Given the description of an element on the screen output the (x, y) to click on. 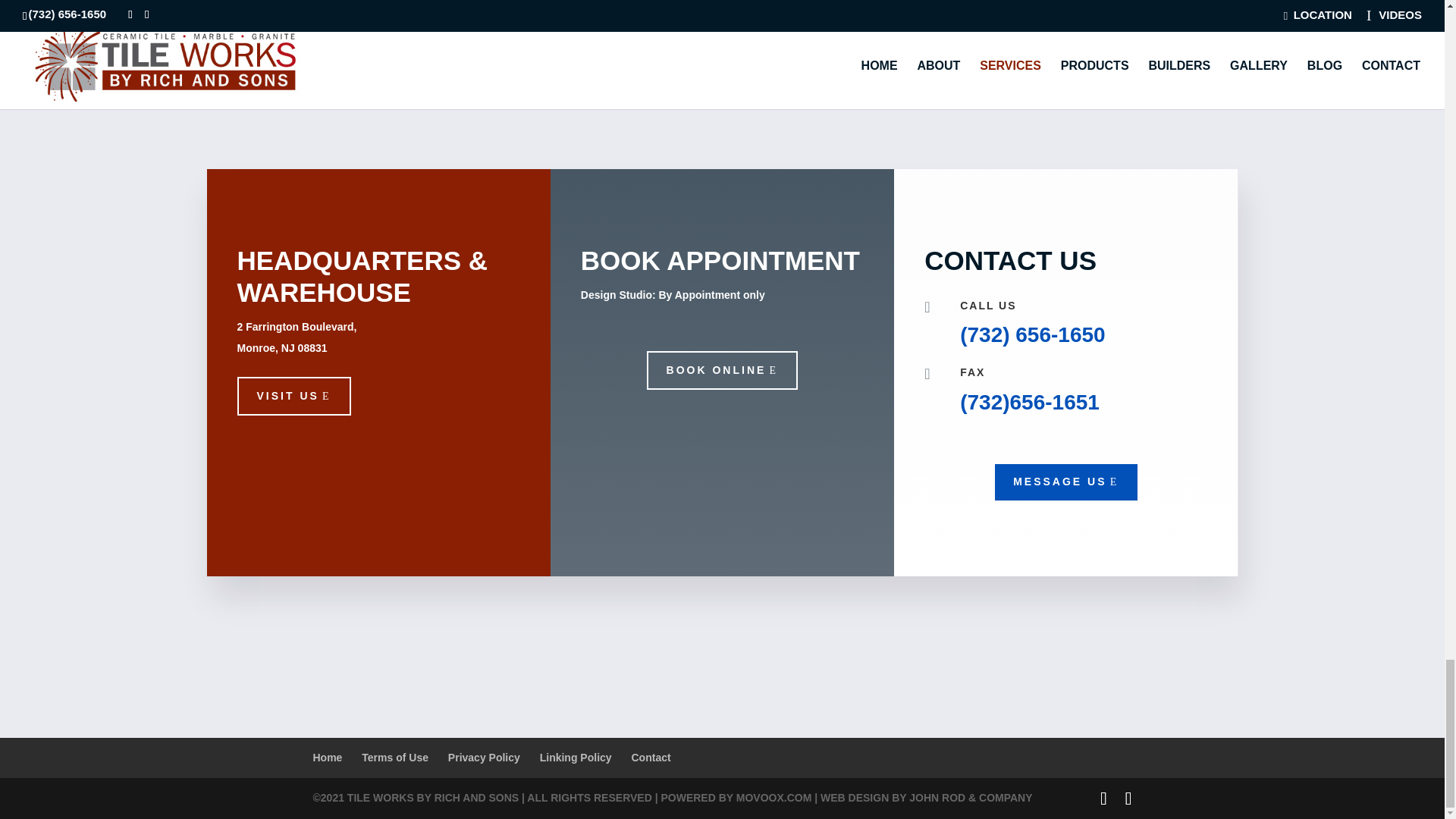
Contact (649, 757)
BOOK ONLINE (721, 370)
Home (327, 757)
VISIT US (292, 396)
MESSAGE US (1065, 482)
Linking Policy (575, 757)
Privacy Policy (483, 757)
Terms of Use (394, 757)
